Given the description of an element on the screen output the (x, y) to click on. 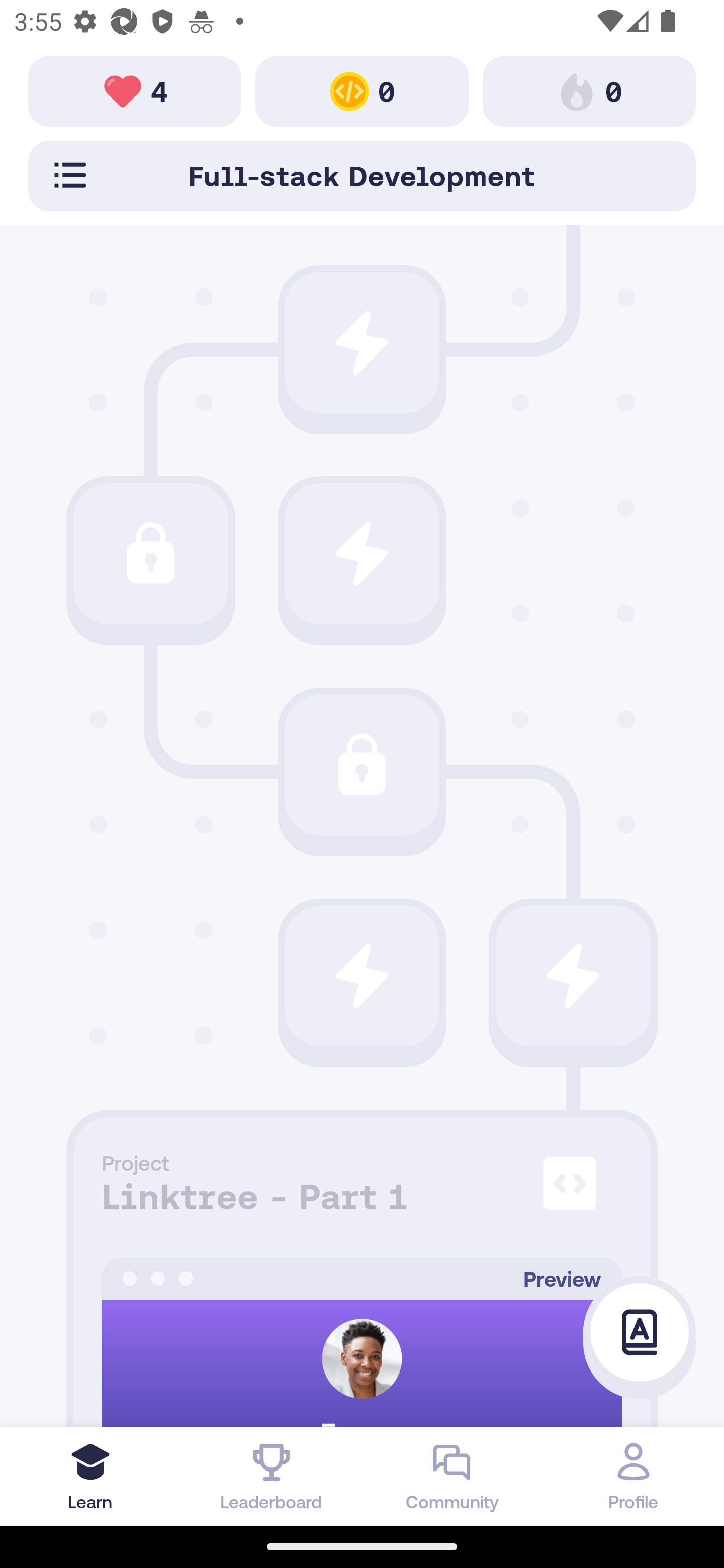
Path Toolbar Image 4 (134, 90)
Path Toolbar Image 0 (361, 90)
Path Toolbar Image 0 (588, 90)
Path Toolbar Selector Full-stack Development (361, 175)
Path Icon (361, 342)
Path Icon (150, 553)
Path Icon (361, 553)
Path Icon (361, 764)
Path Icon (361, 975)
Path Icon (572, 975)
Glossary Icon (639, 1332)
Leaderboard (271, 1475)
Community (452, 1475)
Profile (633, 1475)
